Given the description of an element on the screen output the (x, y) to click on. 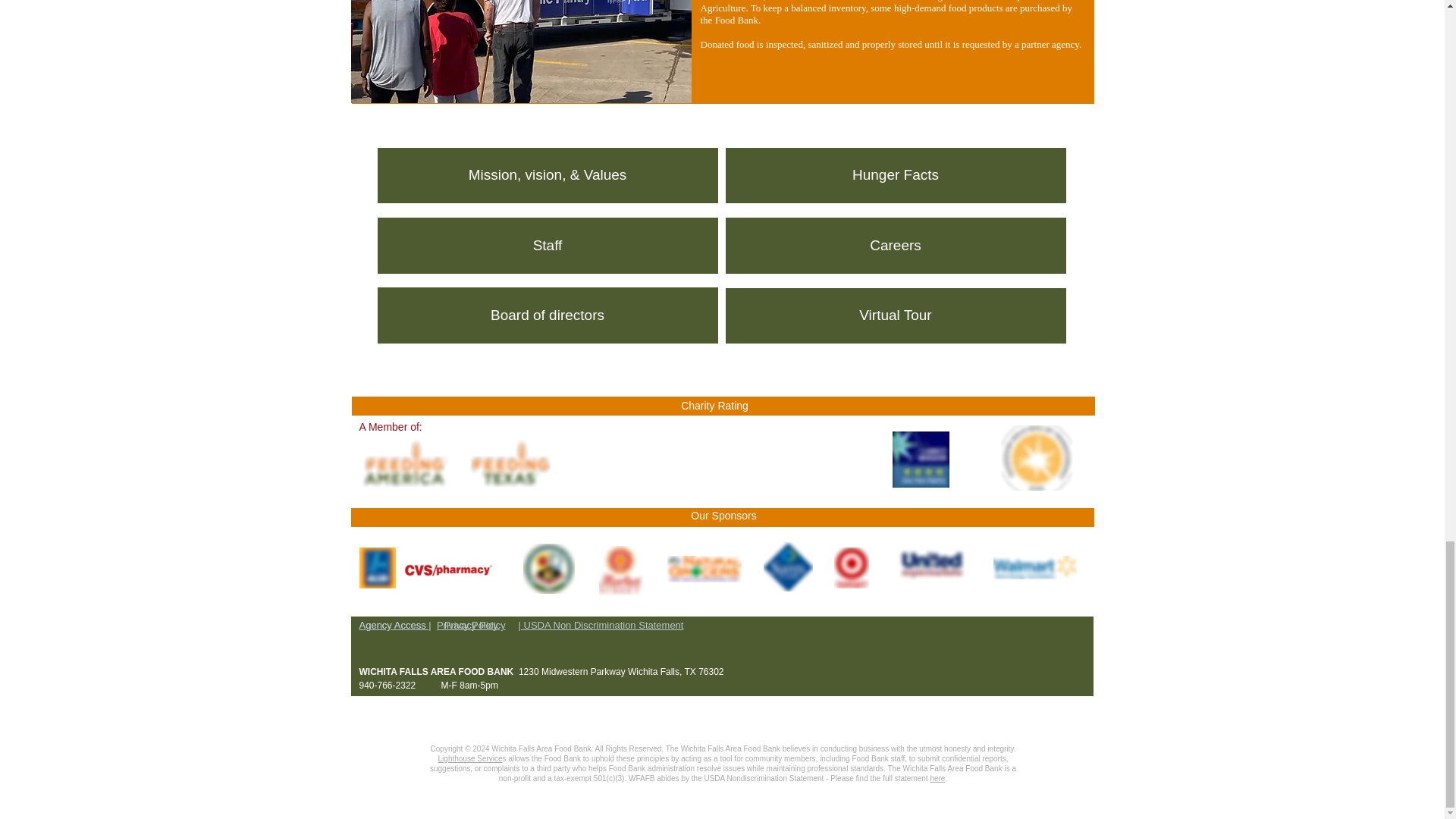
feeding-texas.png (508, 463)
